Given the description of an element on the screen output the (x, y) to click on. 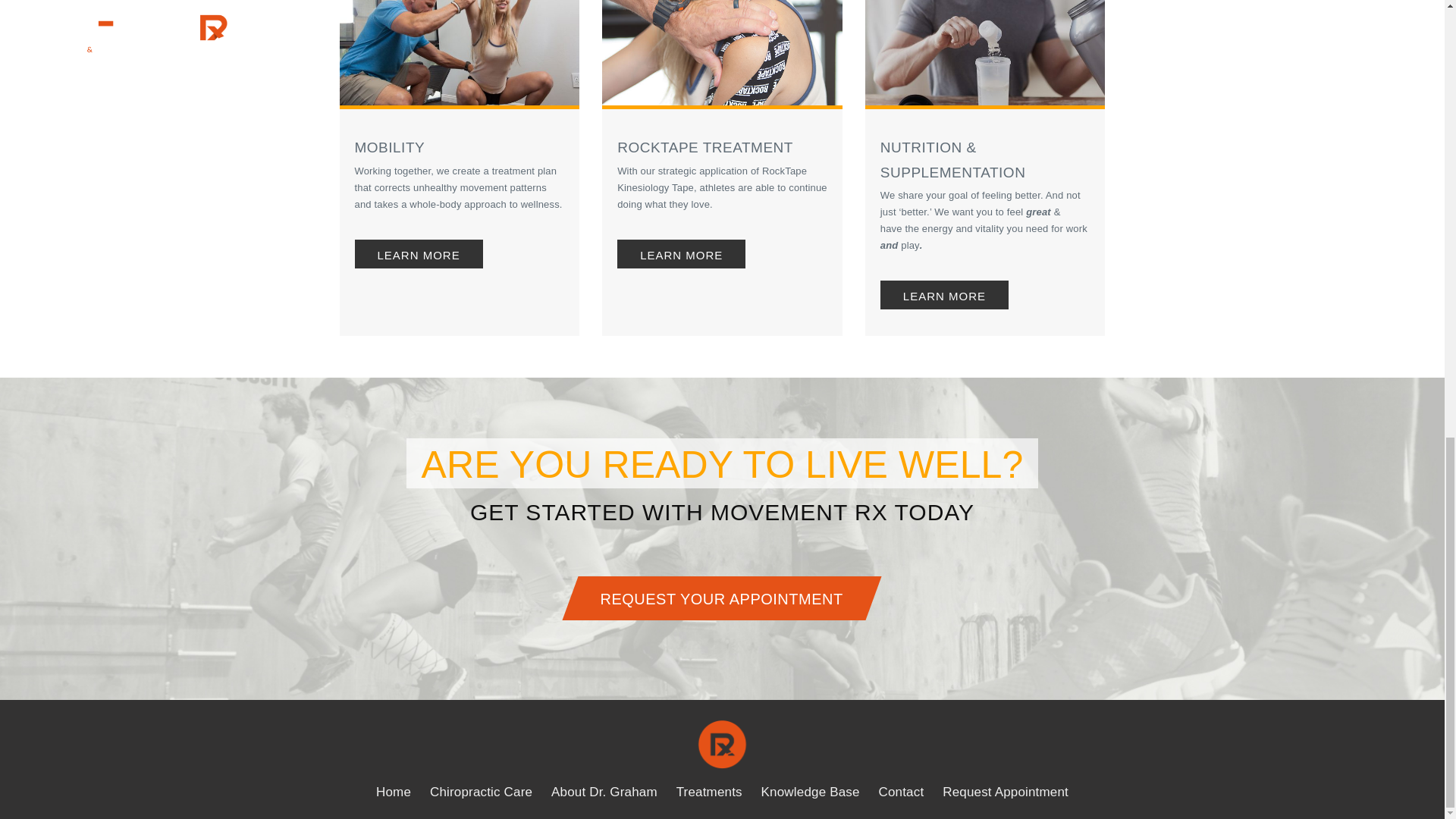
LEARN MORE (681, 253)
About Dr. Graham (604, 791)
Home (392, 791)
Request Appointment (1005, 791)
Chiropractic Care (480, 791)
Treatments (709, 791)
LEARN MORE (944, 294)
REQUEST YOUR APPOINTMENT (714, 597)
mobility-large (459, 54)
Knowledge Base (810, 791)
Contact (900, 791)
LEARN MORE (419, 253)
rock-tape-bakersfield (722, 54)
Nutritional Guidance (984, 54)
